Given the description of an element on the screen output the (x, y) to click on. 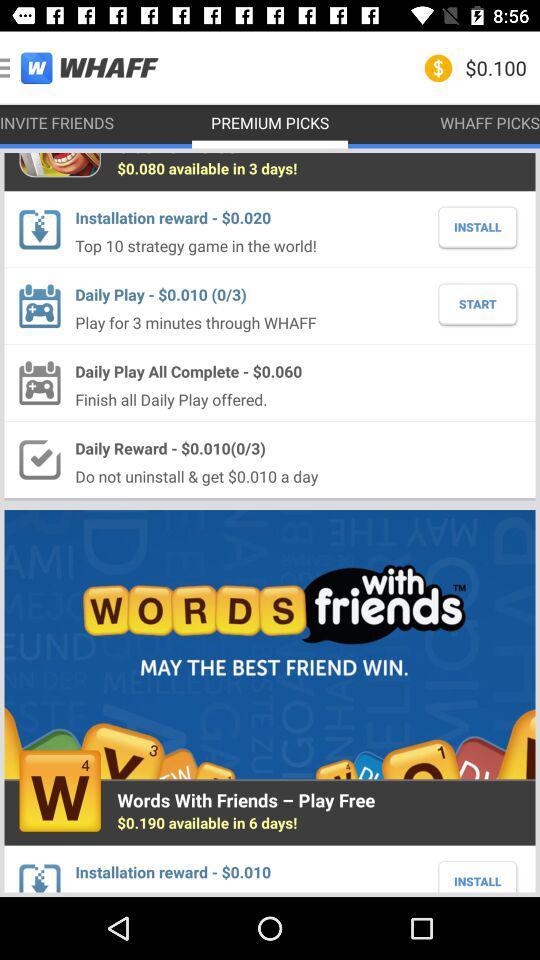
swipe to the start icon (477, 304)
